Given the description of an element on the screen output the (x, y) to click on. 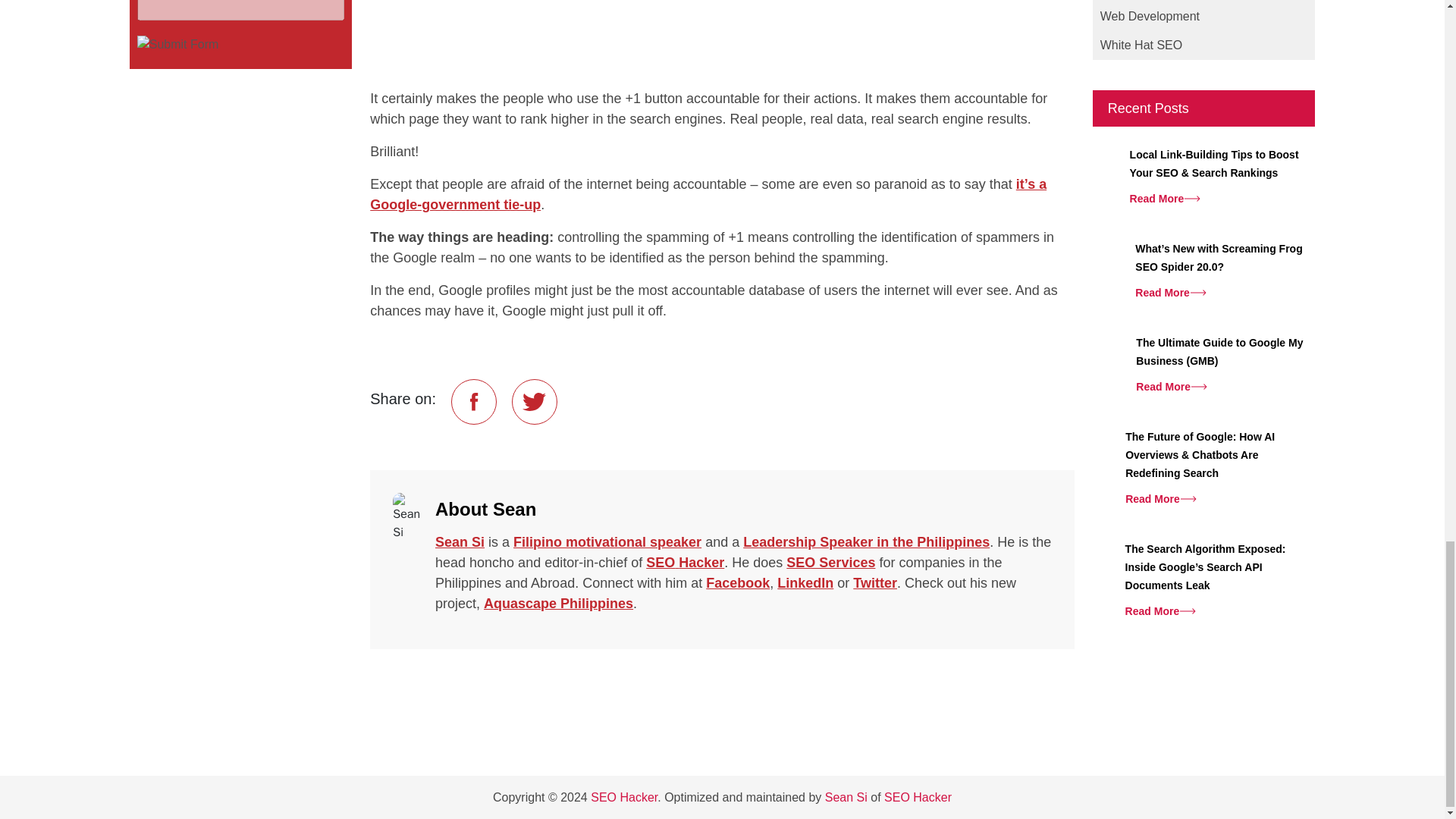
SEO Hacker Blog (624, 797)
Leadership speaker Philippines (866, 541)
SEO in Simple Terms (684, 562)
SEO Philippines (830, 562)
Google-government Tie up (707, 194)
Sean Si Twitter Page (874, 582)
Filipino motivational speaker (607, 541)
Sean Si LinkedIn (804, 582)
Sean Si Facebook Page (738, 582)
